Given the description of an element on the screen output the (x, y) to click on. 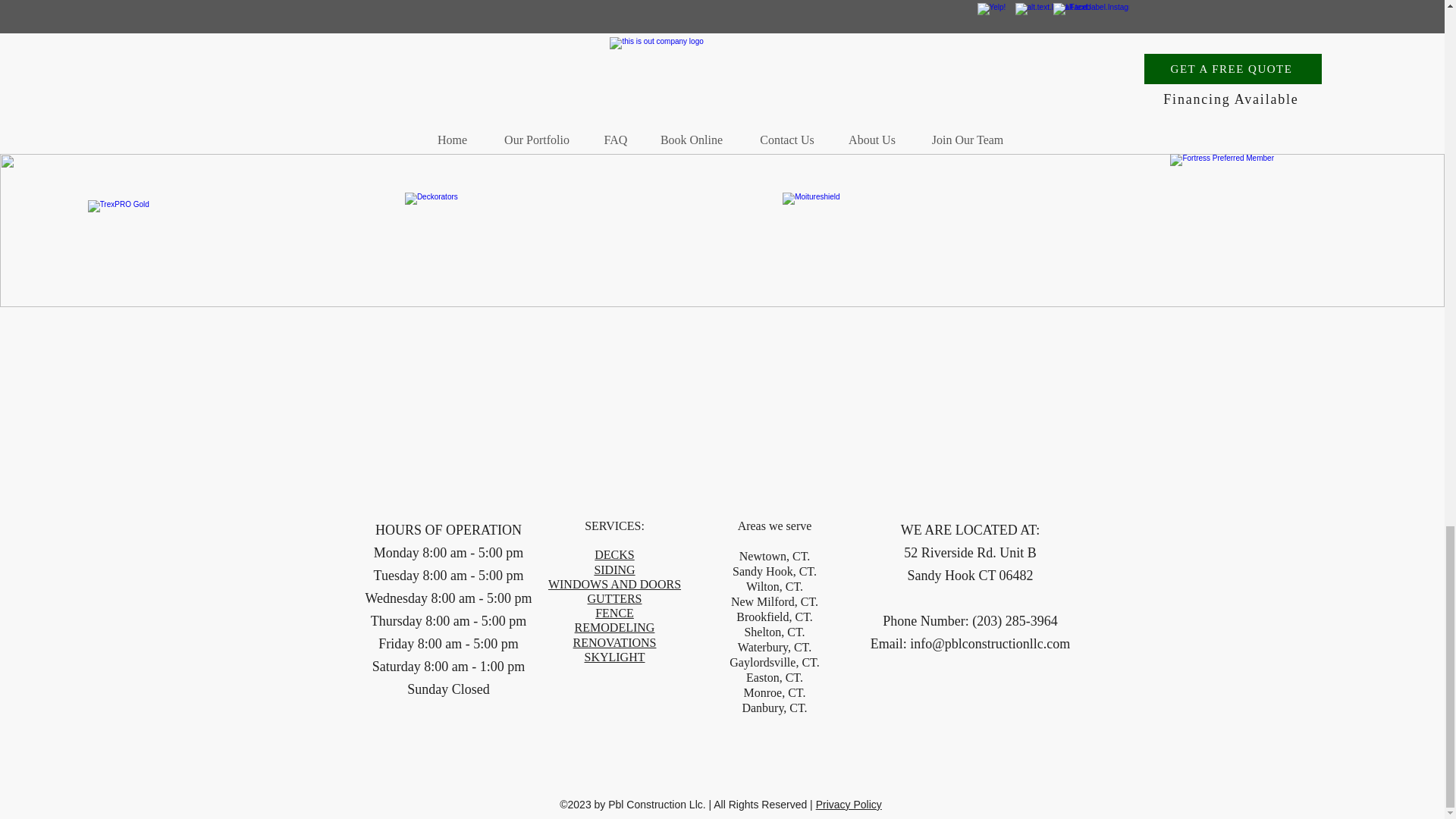
GUTTERS (614, 598)
SIDING (614, 569)
RENOVATIONS (614, 641)
DECKS (613, 554)
WINDOWS AND DOORS (614, 584)
FENCE (614, 612)
Privacy Policy (848, 804)
REMODELING (615, 626)
SKYLIGHT (614, 656)
